Given the description of an element on the screen output the (x, y) to click on. 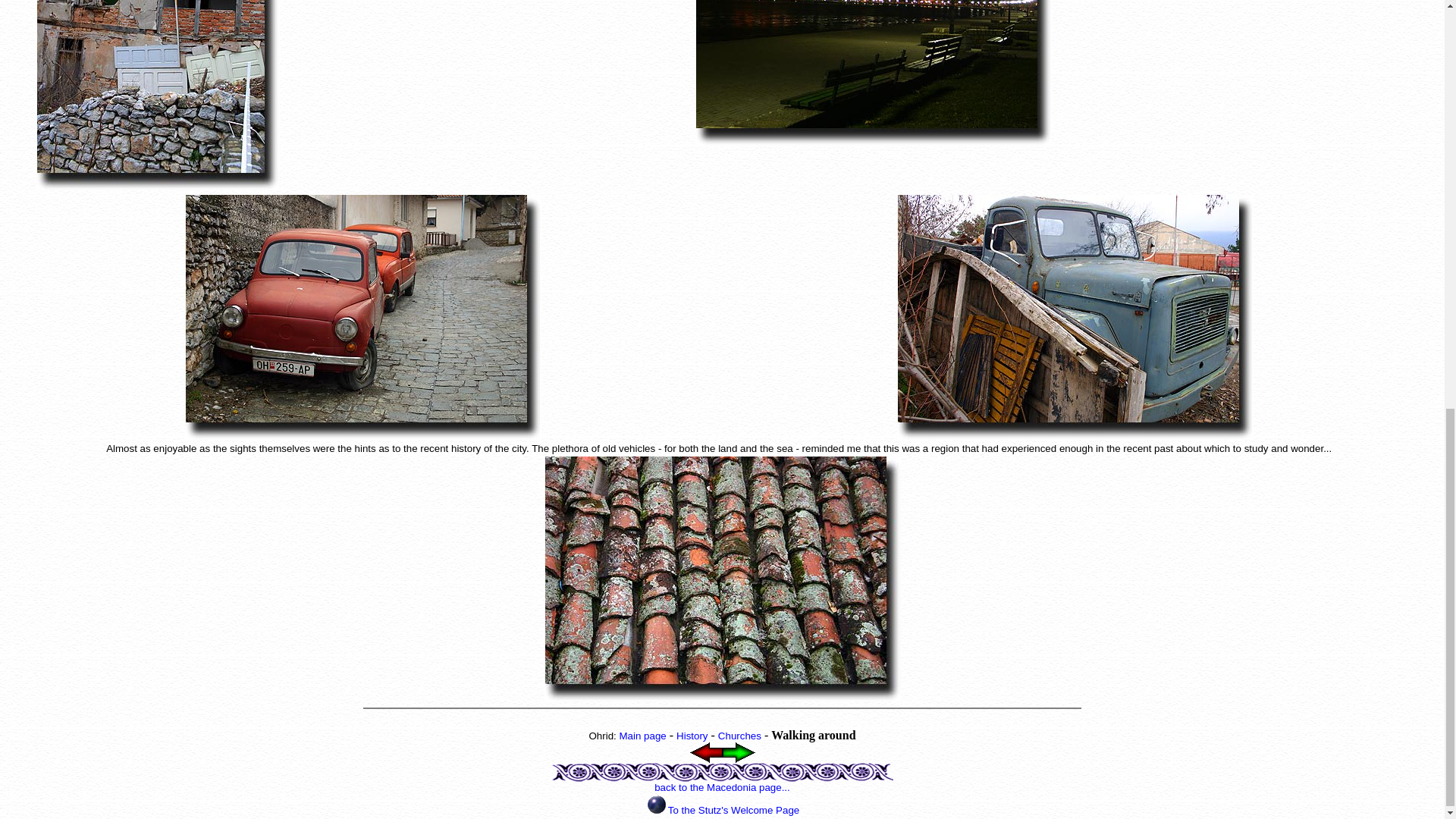
back to the Macedonia page... (721, 787)
Main page (641, 736)
Churches (739, 736)
To the Stutz's Welcome Page (733, 809)
History (692, 736)
